Given the description of an element on the screen output the (x, y) to click on. 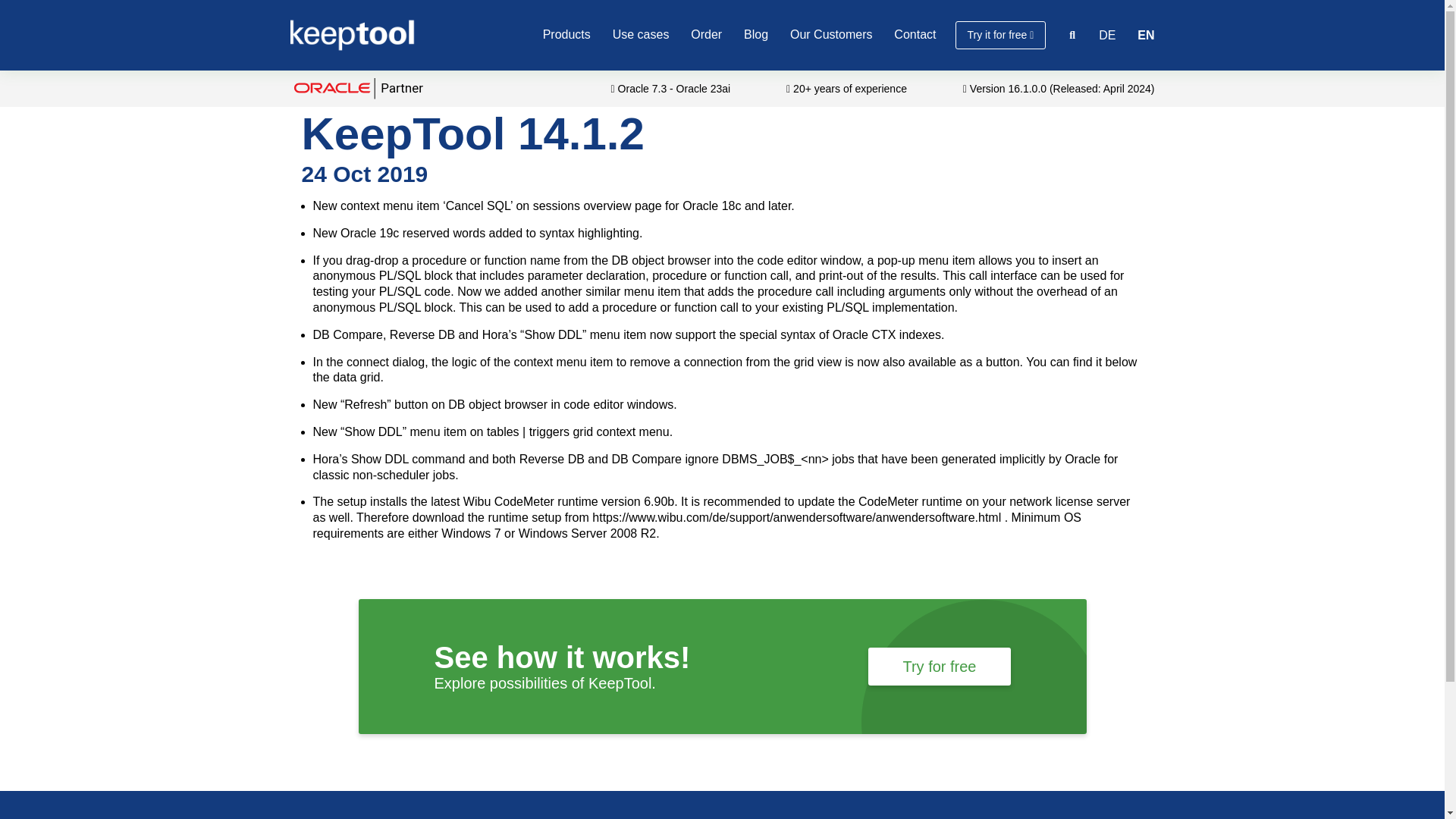
Blog (756, 33)
Order (706, 33)
DE (1107, 34)
Contact (914, 33)
Products (567, 33)
Try it for free (1000, 35)
Use cases (640, 33)
Our Customers (831, 33)
